Given the description of an element on the screen output the (x, y) to click on. 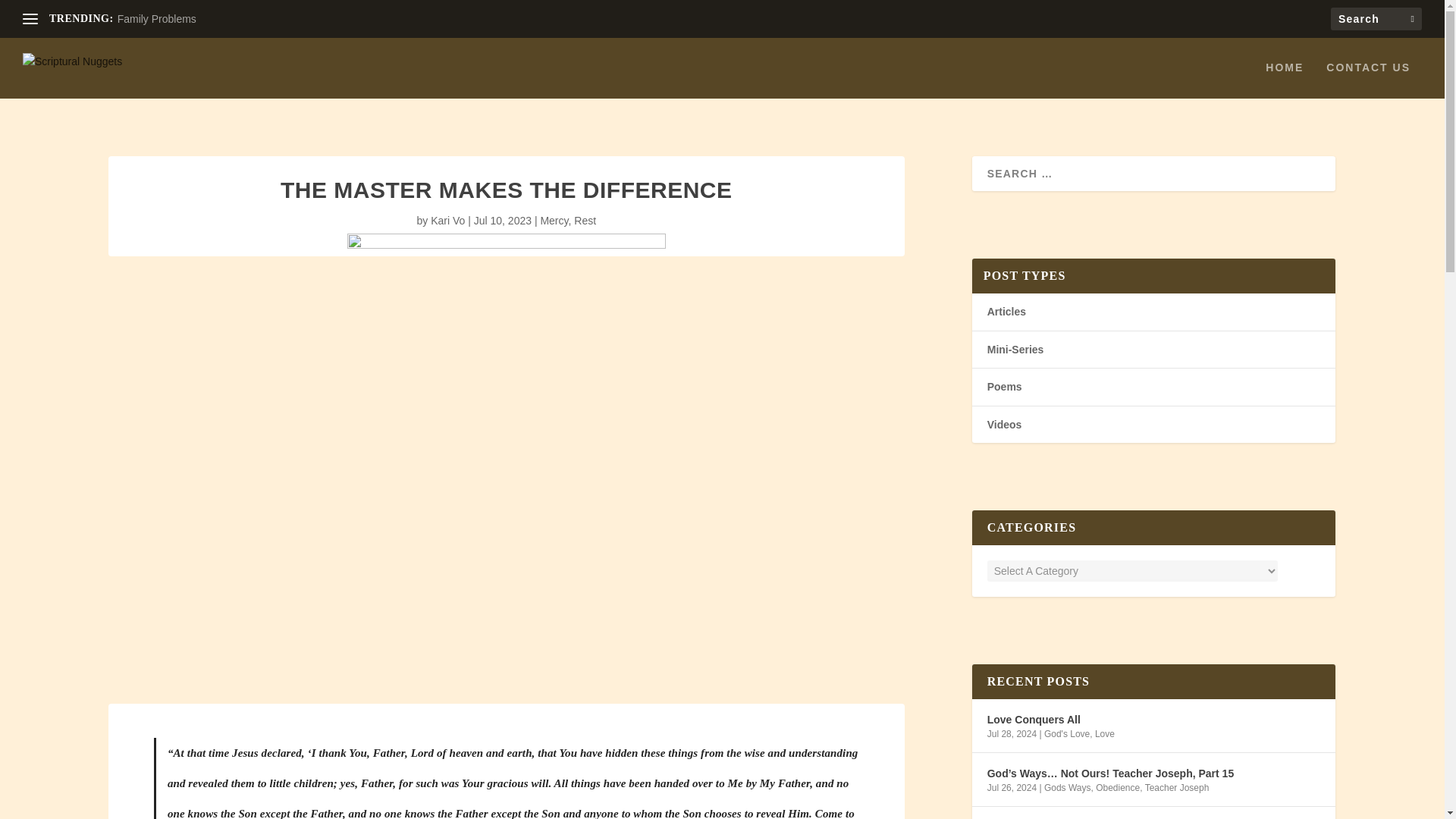
The R.A.C.E. (1019, 818)
Rest (584, 220)
Family Problems (156, 19)
Love Conquers All (1033, 719)
CONTACT US (1368, 79)
Kari Vo (447, 220)
Articles (1006, 311)
Mercy (553, 220)
Search for: (1376, 18)
Teacher Joseph (1176, 787)
Poems (1004, 386)
Posts by Kari Vo (447, 220)
HOME (1284, 79)
Love (1104, 733)
